Given the description of an element on the screen output the (x, y) to click on. 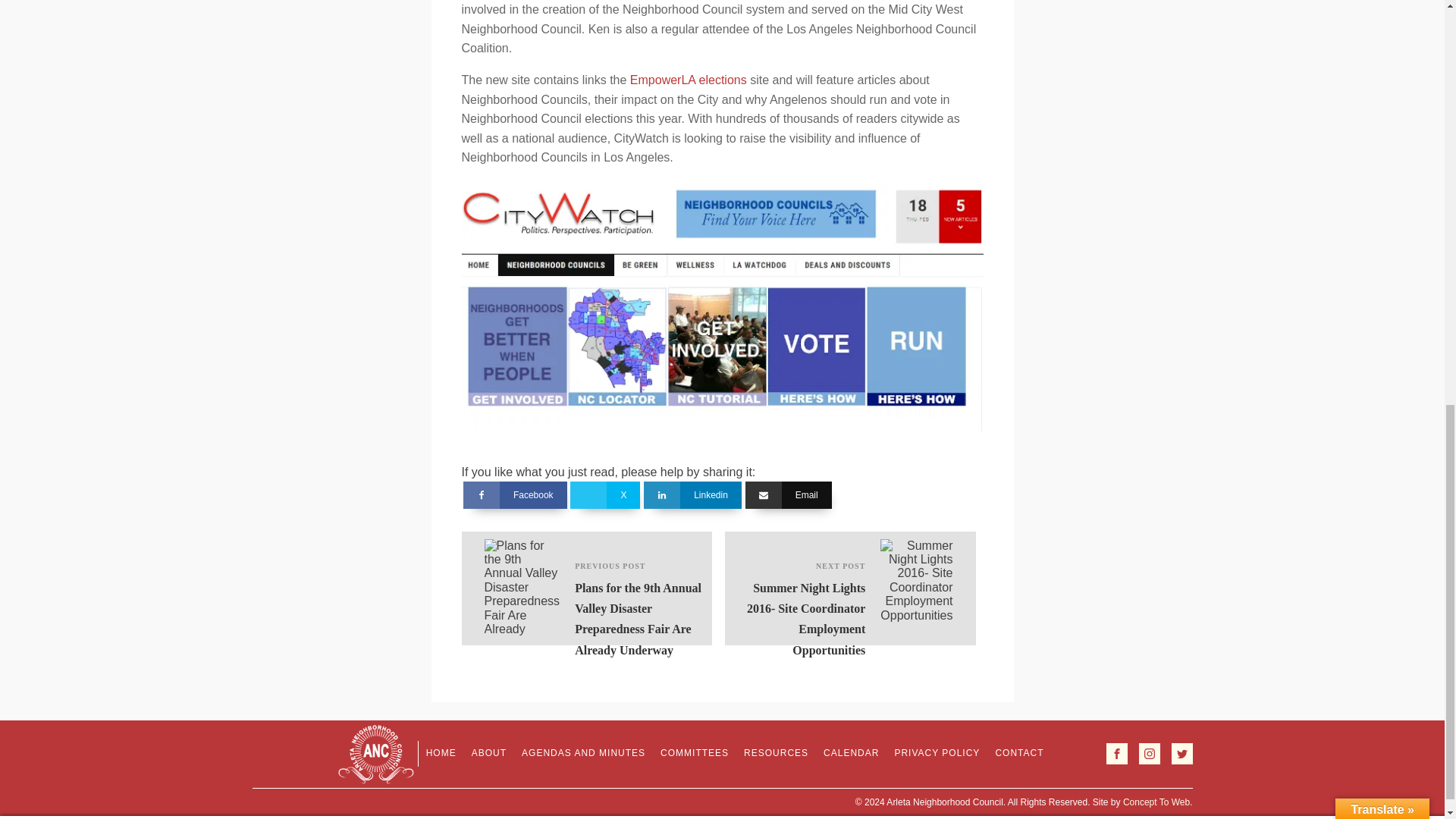
HOME (441, 753)
Linkedin (692, 494)
Facebook (515, 494)
COMMITTEES (694, 753)
X (605, 494)
EmpowerLA elections (688, 79)
ABOUT (488, 753)
Email (788, 494)
AGENDAS AND MINUTES (582, 753)
